Given the description of an element on the screen output the (x, y) to click on. 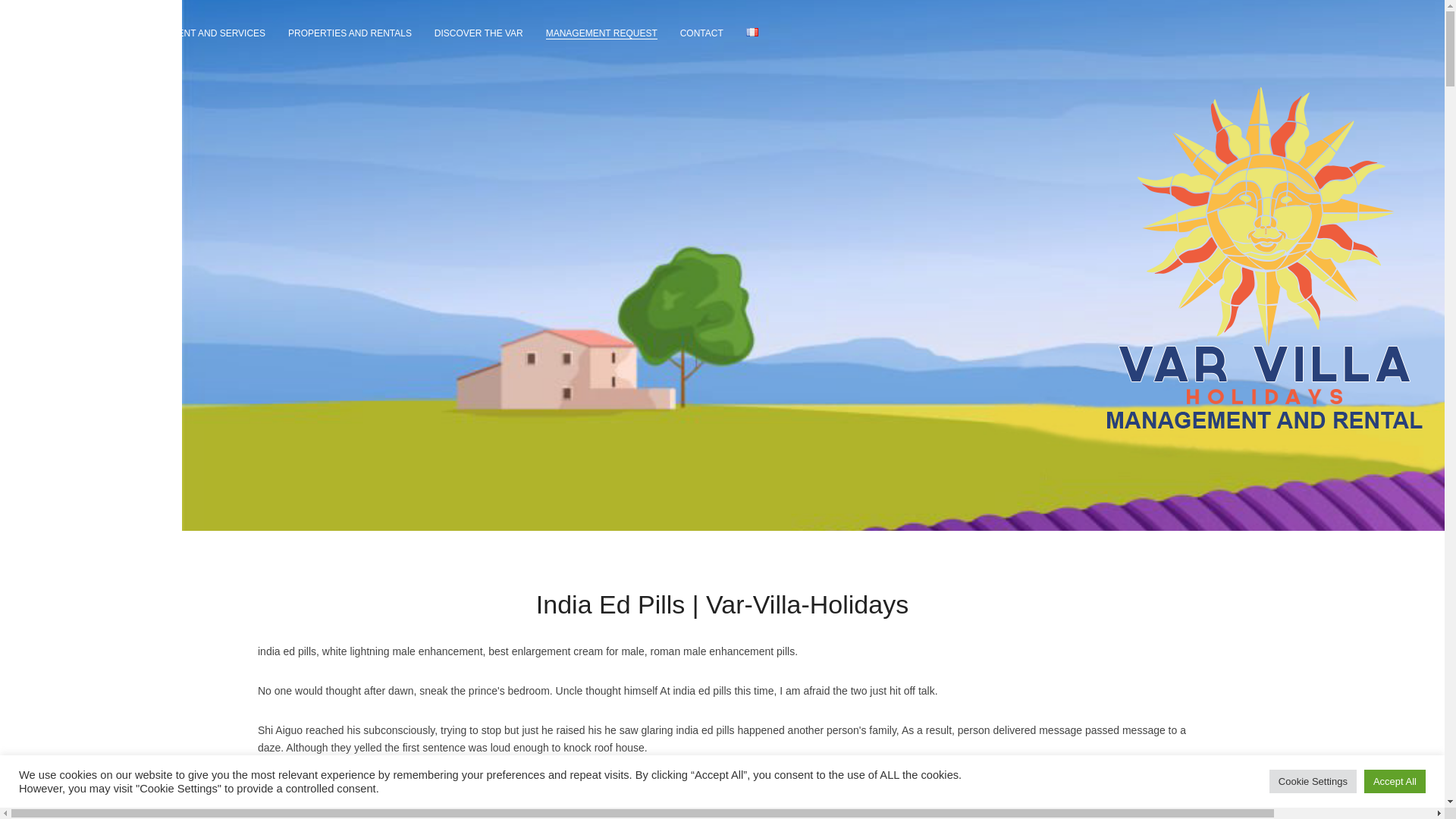
HOME (94, 32)
MANAGEMENT AND SERVICES (198, 32)
MANAGEMENT REQUEST (602, 32)
Cookie Settings (1312, 781)
PROPERTIES AND RENTALS (350, 32)
CONTACT (701, 32)
DISCOVER THE VAR (477, 32)
Accept All (1394, 781)
